Given the description of an element on the screen output the (x, y) to click on. 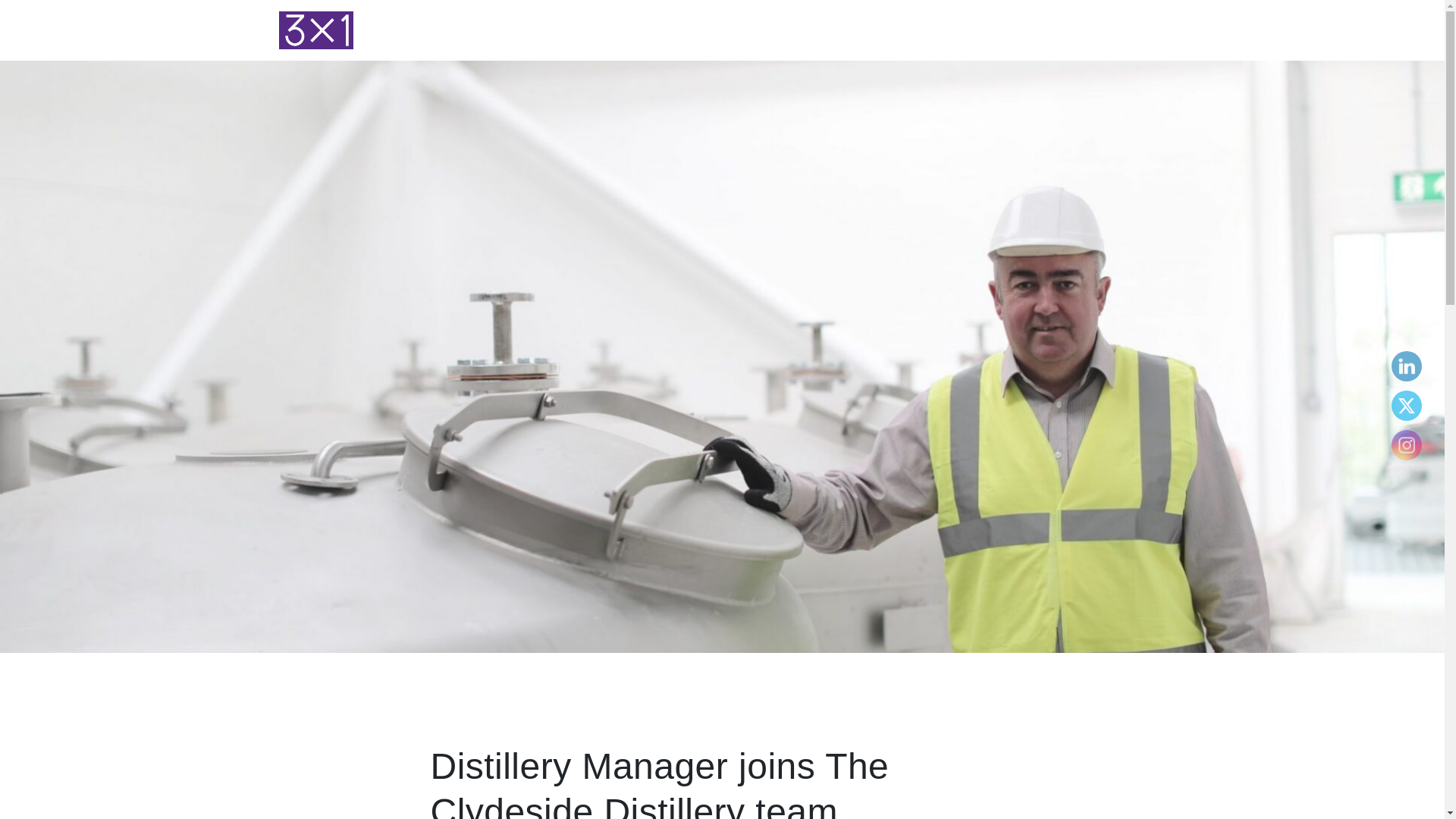
CONTACT (1131, 30)
OUR WORK (1009, 30)
Twitter (1406, 405)
WHO WE ARE (838, 30)
LinkedIn (1406, 365)
WHAT WE DO (926, 30)
Instagram (1406, 444)
